Given the description of an element on the screen output the (x, y) to click on. 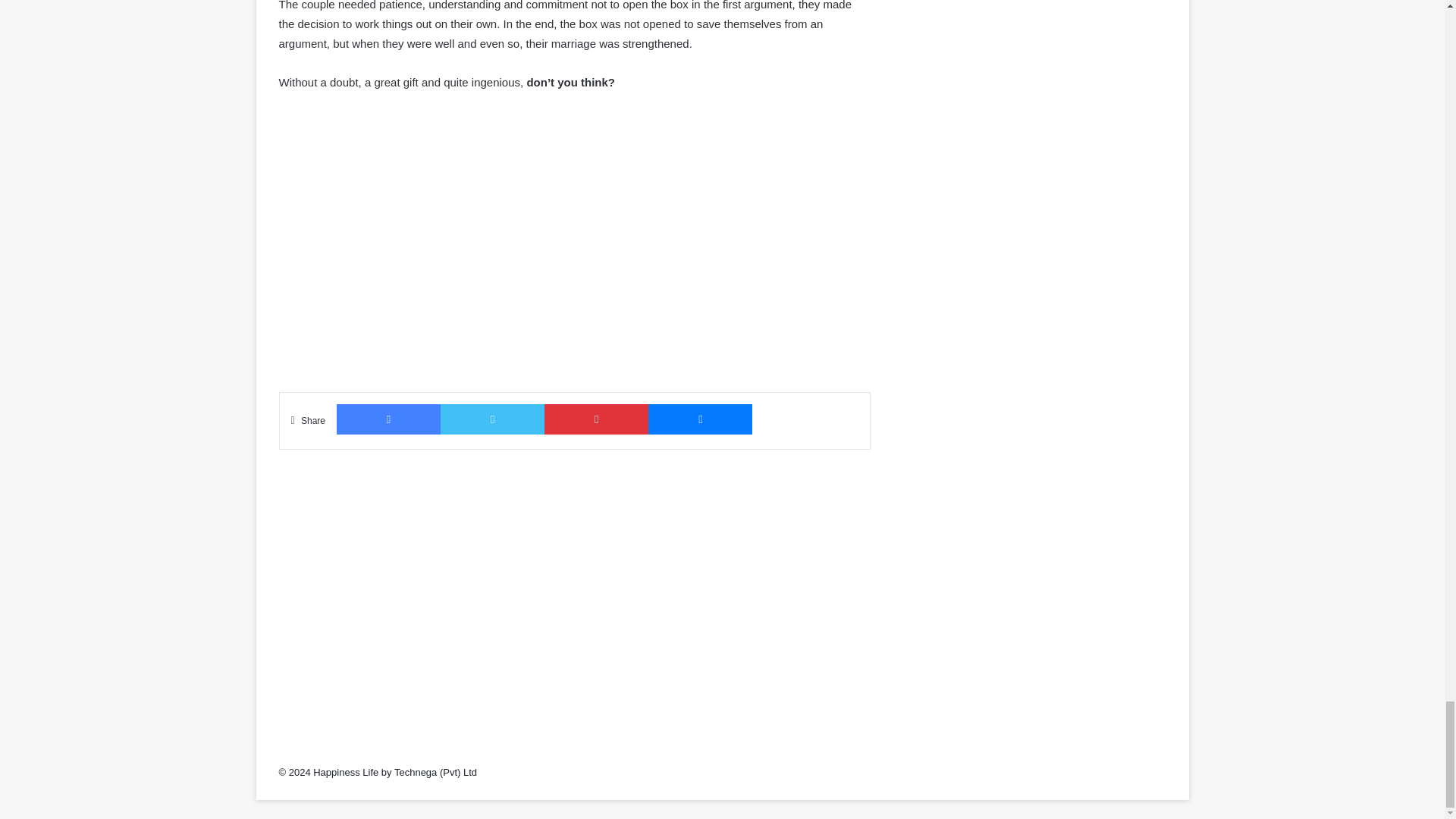
Messenger (699, 419)
Facebook (388, 419)
Twitter (492, 419)
Pinterest (595, 419)
